Given the description of an element on the screen output the (x, y) to click on. 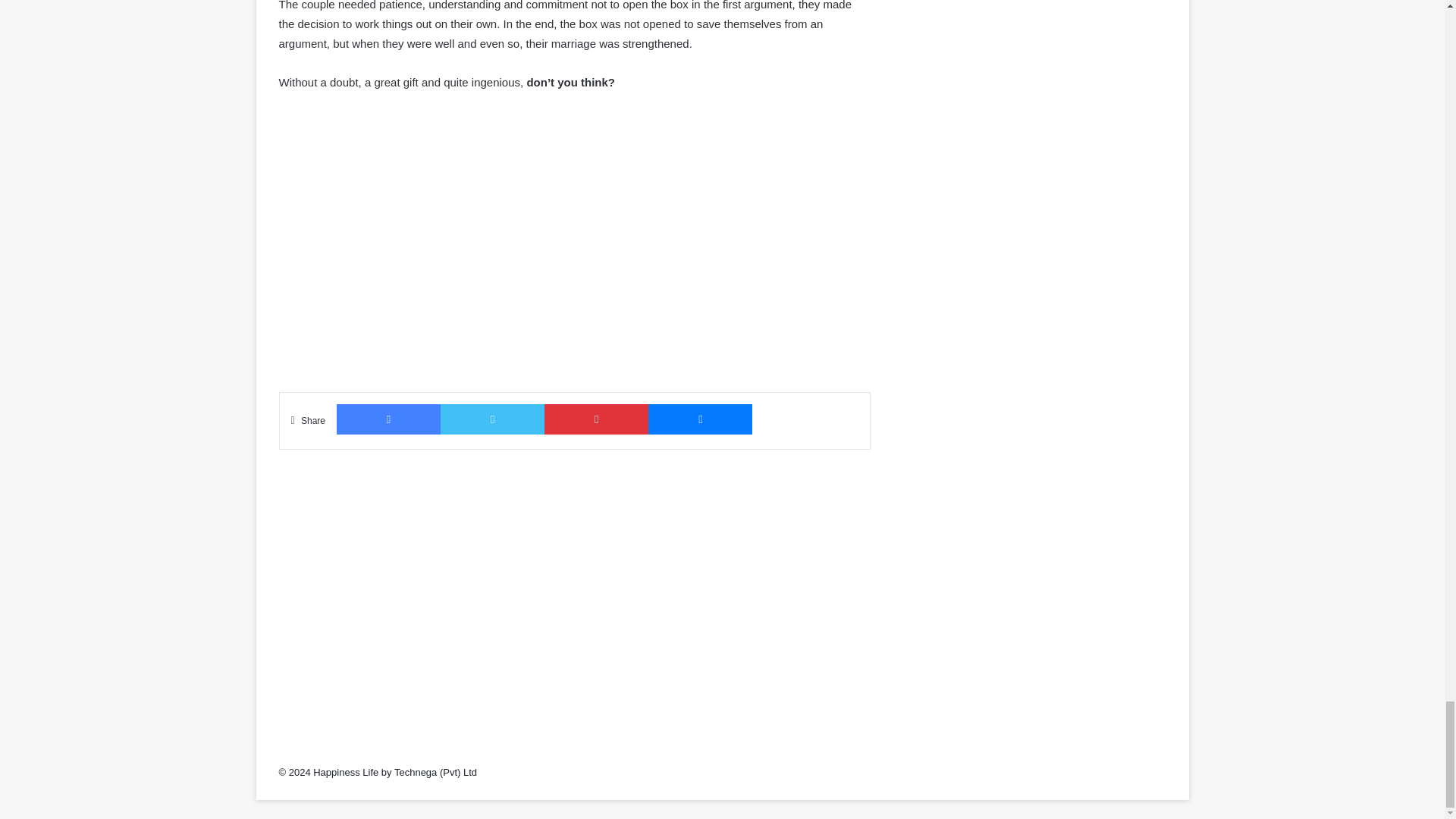
Messenger (699, 419)
Facebook (388, 419)
Twitter (492, 419)
Pinterest (595, 419)
